Given the description of an element on the screen output the (x, y) to click on. 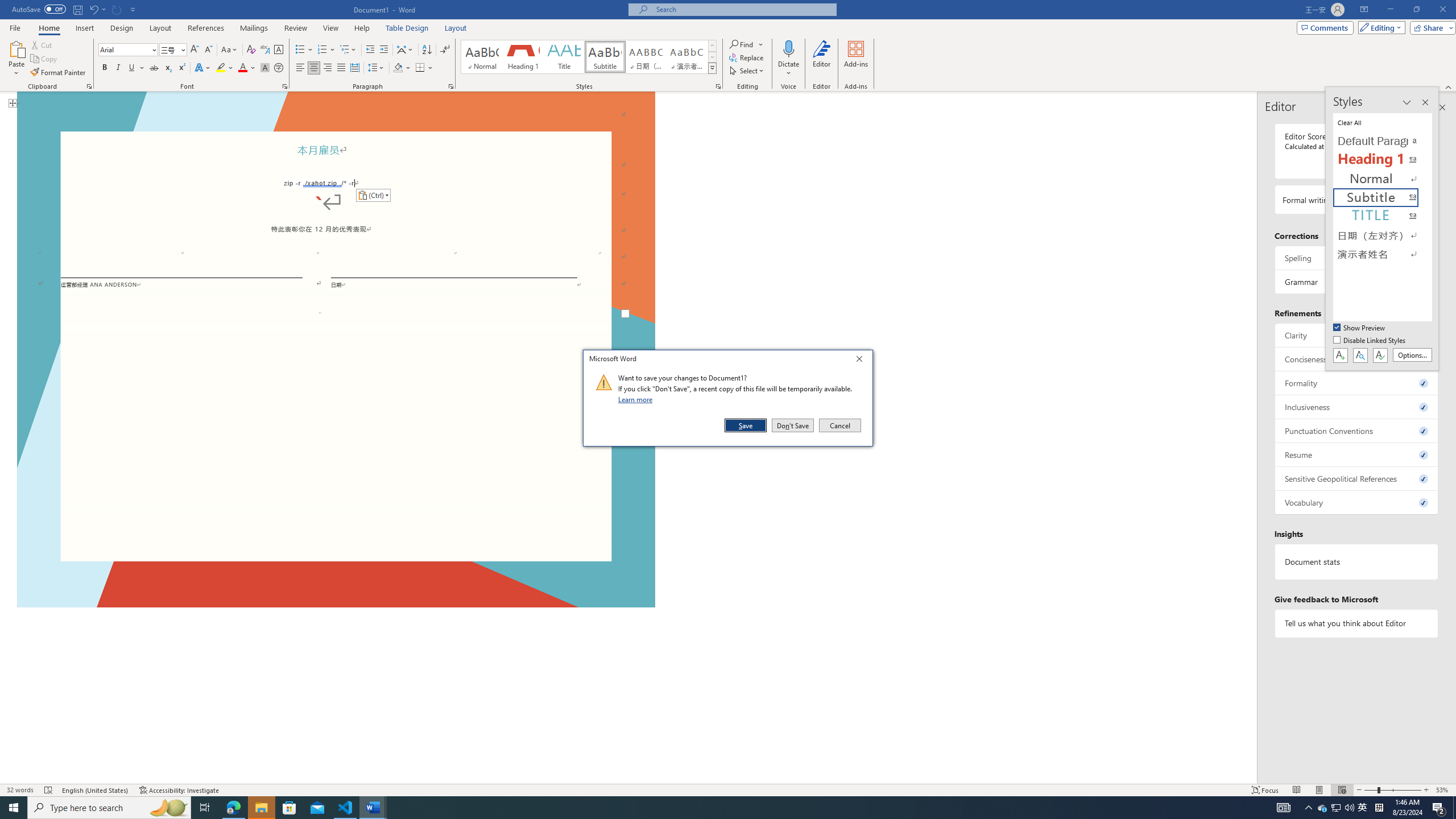
Clarity, 0 issues. Press space or enter to review items. (1356, 335)
Options... (1412, 354)
Clear All (1382, 122)
